Given the description of an element on the screen output the (x, y) to click on. 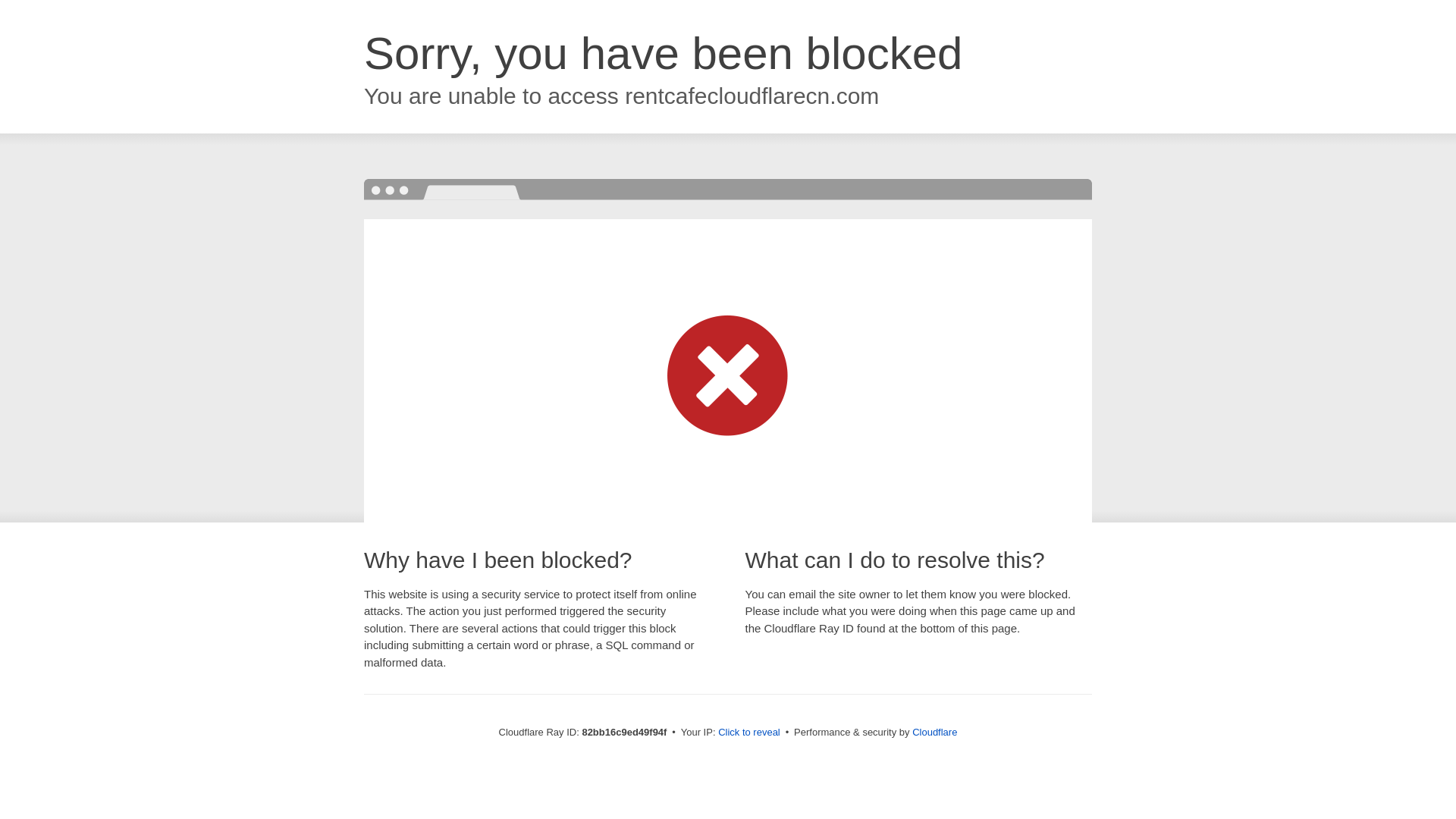
Click to reveal Element type: text (749, 732)
Cloudflare Element type: text (934, 731)
